Given the description of an element on the screen output the (x, y) to click on. 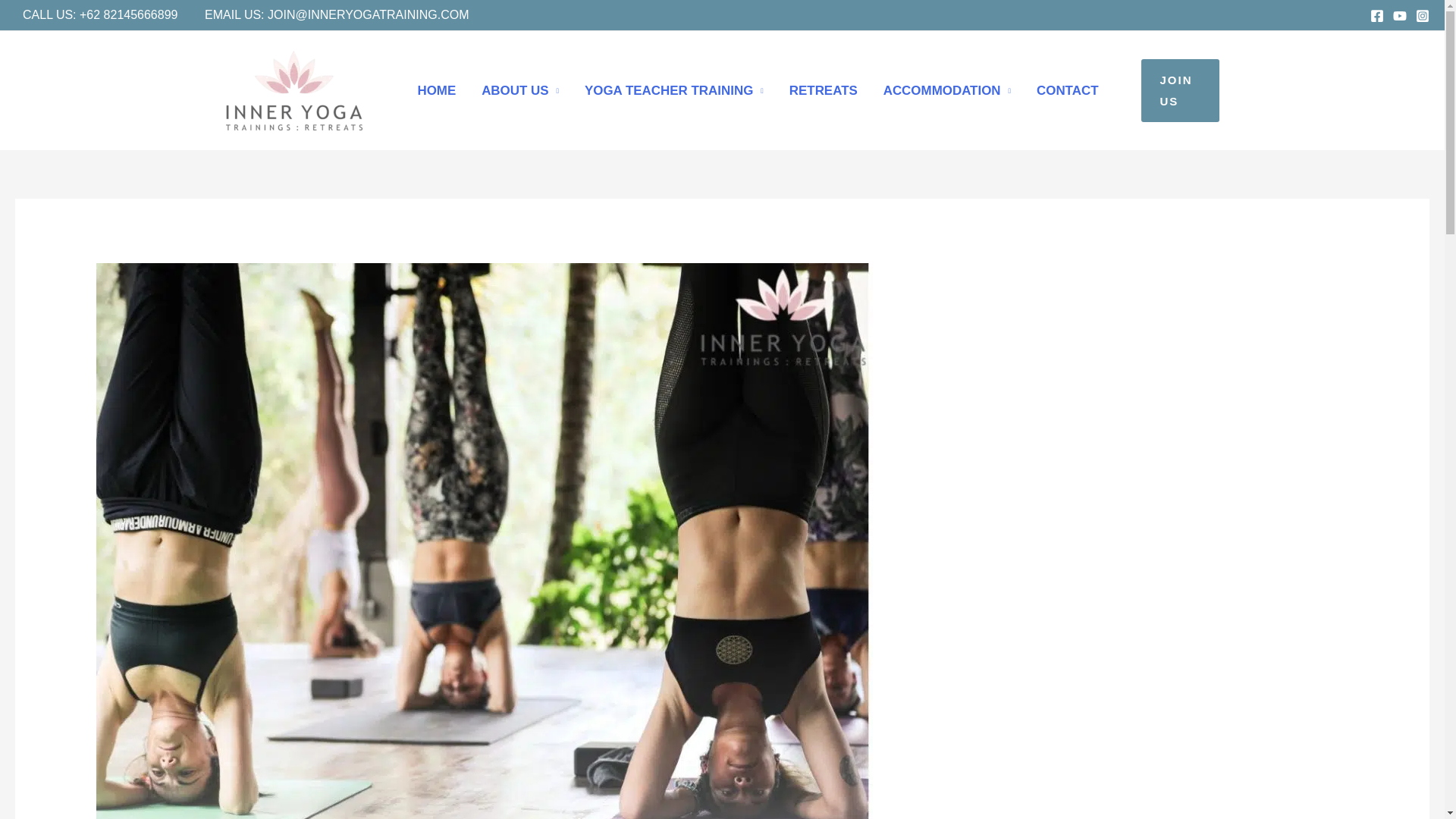
RETREATS (823, 90)
ABOUT US (520, 90)
ACCOMMODATION (946, 90)
JOIN US (1179, 90)
CONTACT (1066, 90)
HOME (436, 90)
YOGA TEACHER TRAINING (674, 90)
